Given the description of an element on the screen output the (x, y) to click on. 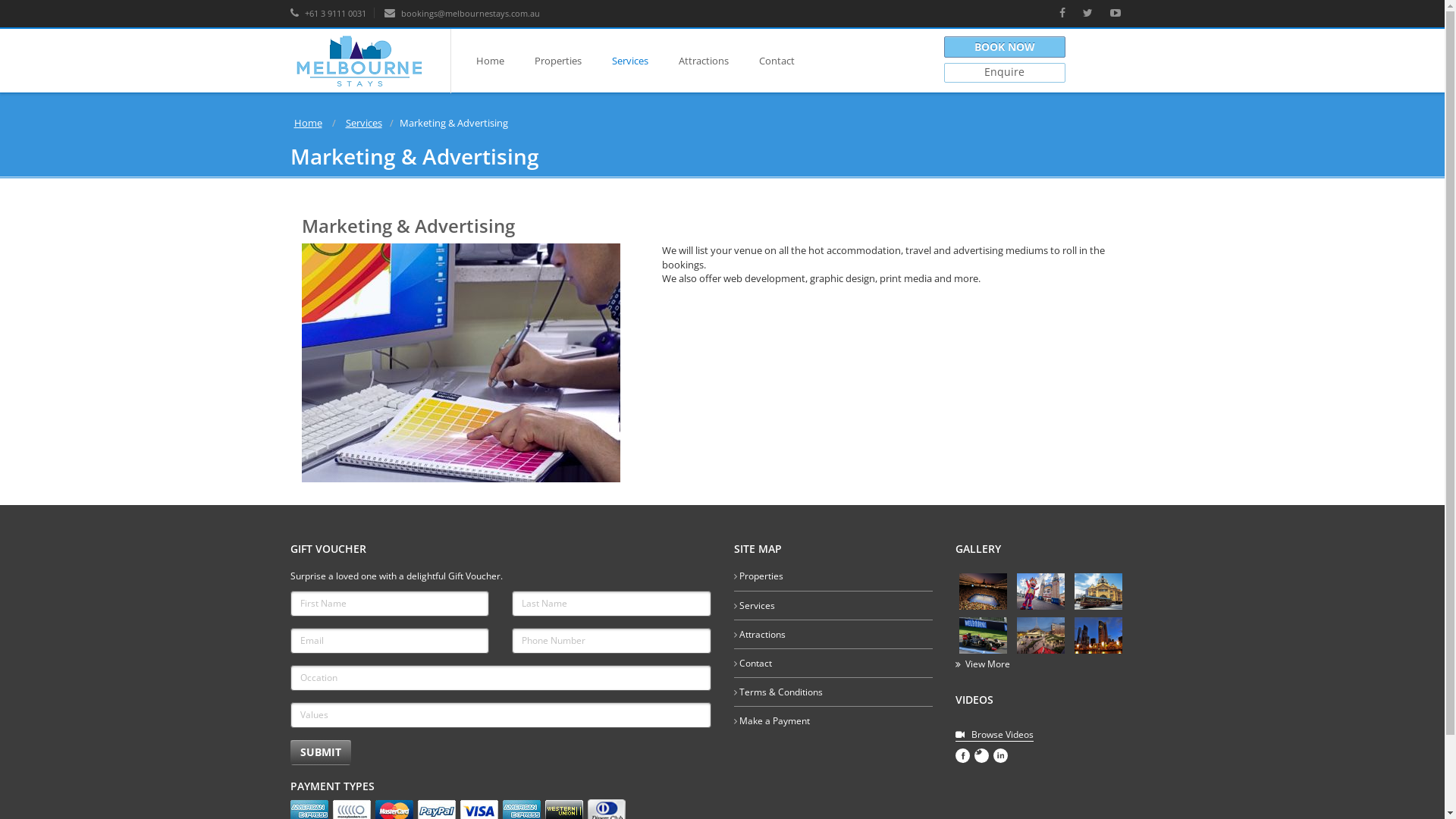
Properties Element type: text (760, 575)
Make a Payment Element type: text (773, 720)
Attractions Element type: text (761, 633)
Services Element type: text (363, 122)
Attractions Element type: text (702, 60)
SUBMIT Element type: text (319, 752)
   Browse Videos Element type: text (994, 734)
  View More Element type: text (982, 663)
Properties Element type: text (557, 60)
Home Element type: text (307, 122)
bookings@melbournestays.com.au Element type: text (461, 12)
Services Element type: text (629, 60)
Enquire Element type: text (1004, 72)
Contact Element type: text (754, 662)
Services Element type: text (756, 605)
Home Element type: text (490, 60)
BOOK NOW Element type: text (1004, 46)
+61 3 9111 0031 Element type: text (327, 12)
Terms & Conditions Element type: text (780, 691)
Contact Element type: text (776, 60)
